Given the description of an element on the screen output the (x, y) to click on. 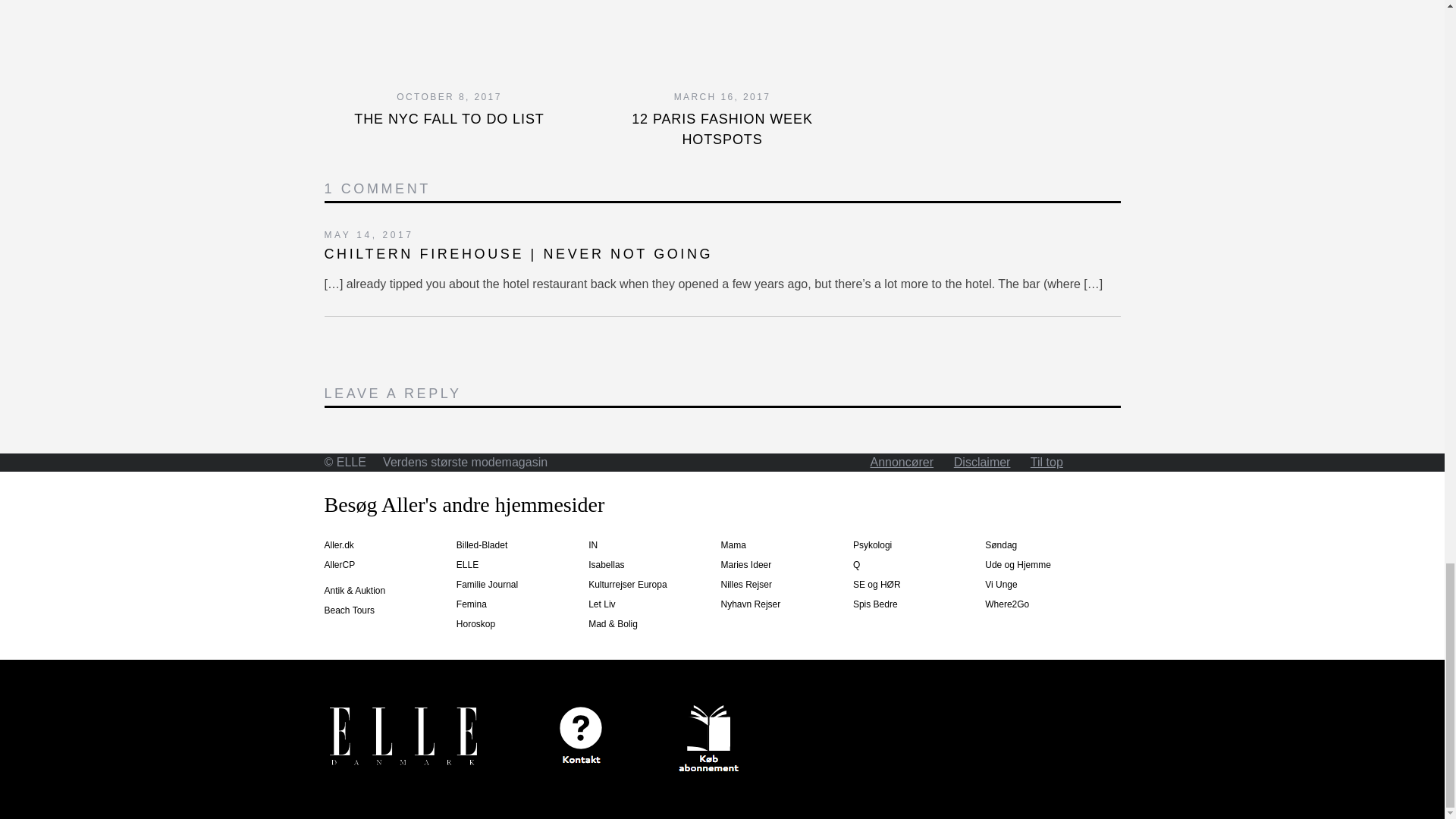
Kontakt (581, 734)
Magazine (708, 738)
ELLE.DK (403, 738)
